Given the description of an element on the screen output the (x, y) to click on. 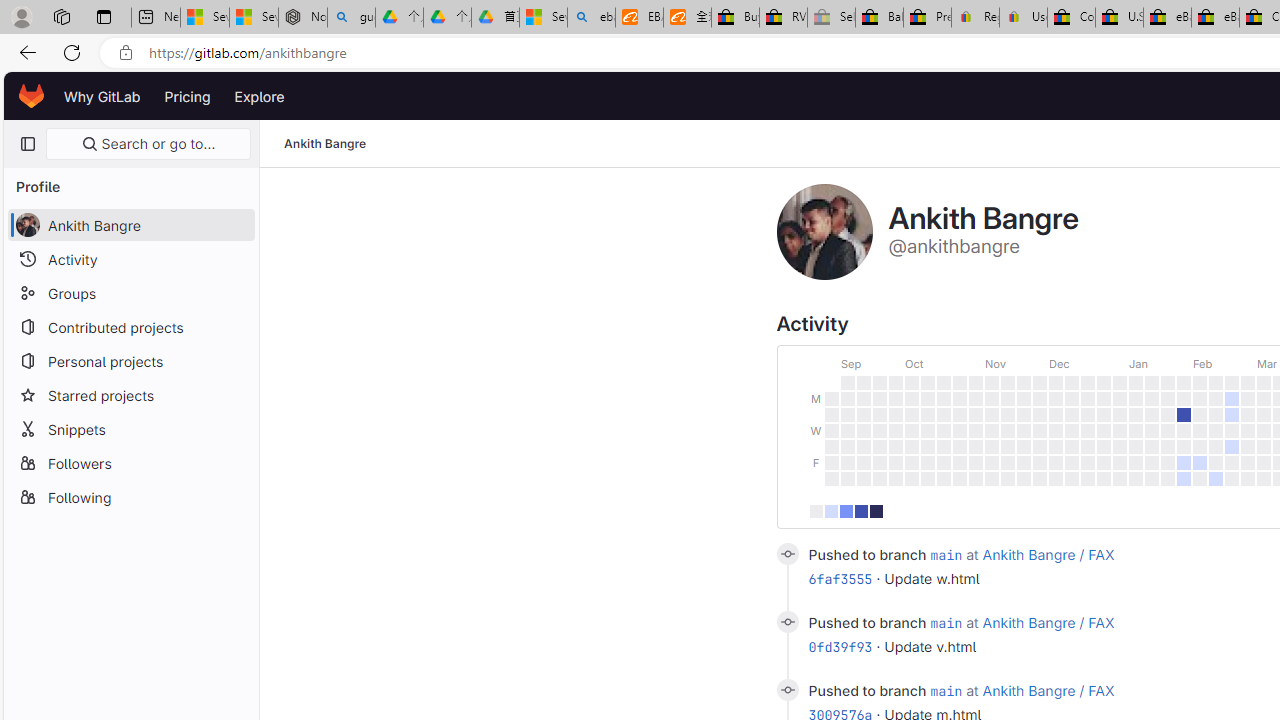
Snippets (130, 428)
Contributed projects (130, 326)
Groups (130, 292)
0fd39f93 (839, 646)
Activity (130, 259)
